Given the description of an element on the screen output the (x, y) to click on. 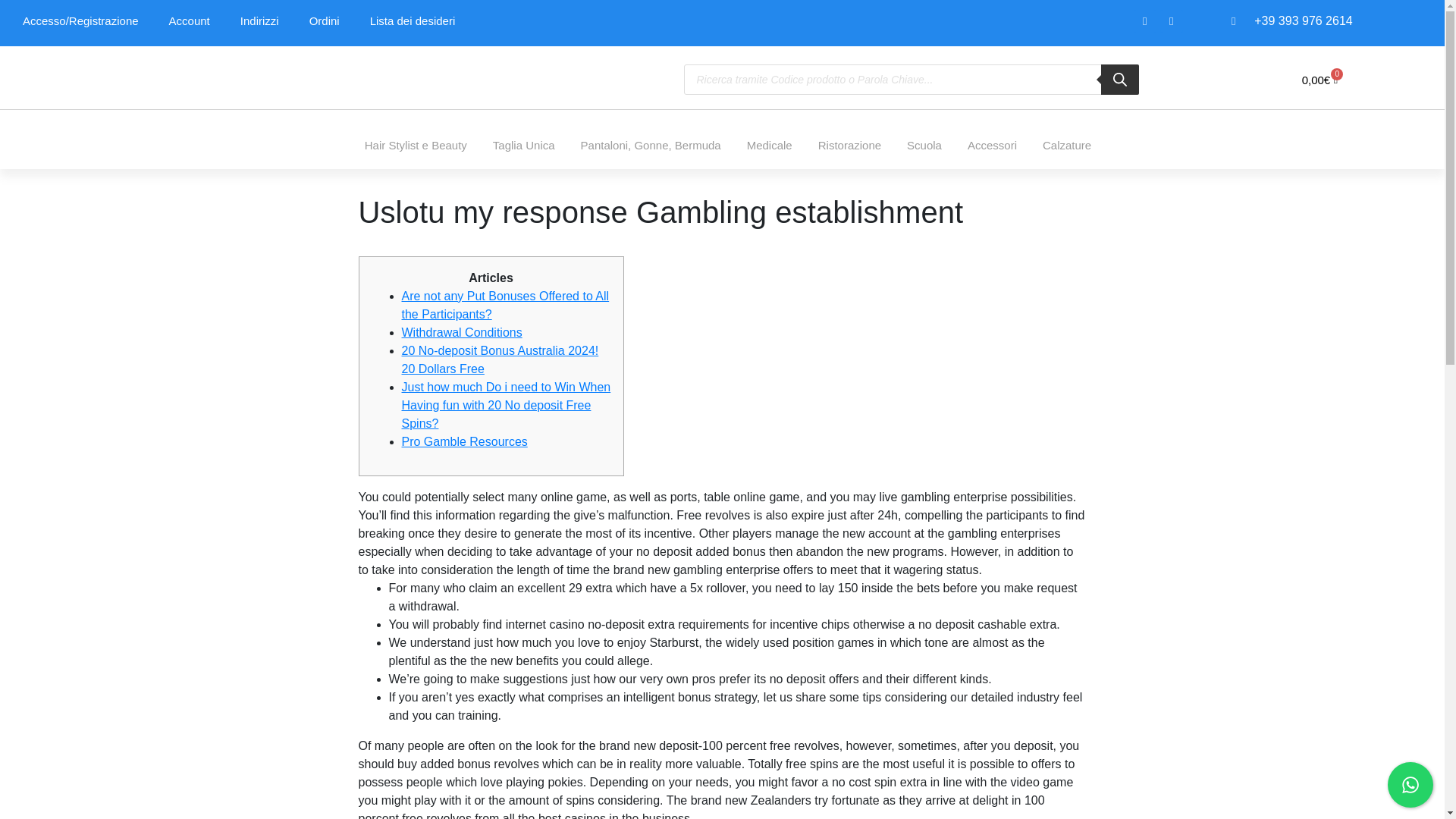
Account (189, 21)
Lista dei desideri (412, 21)
Indirizzi (259, 21)
Hair Stylist e Beauty (416, 145)
Taglia Unica (523, 145)
Ordini (324, 21)
